Given the description of an element on the screen output the (x, y) to click on. 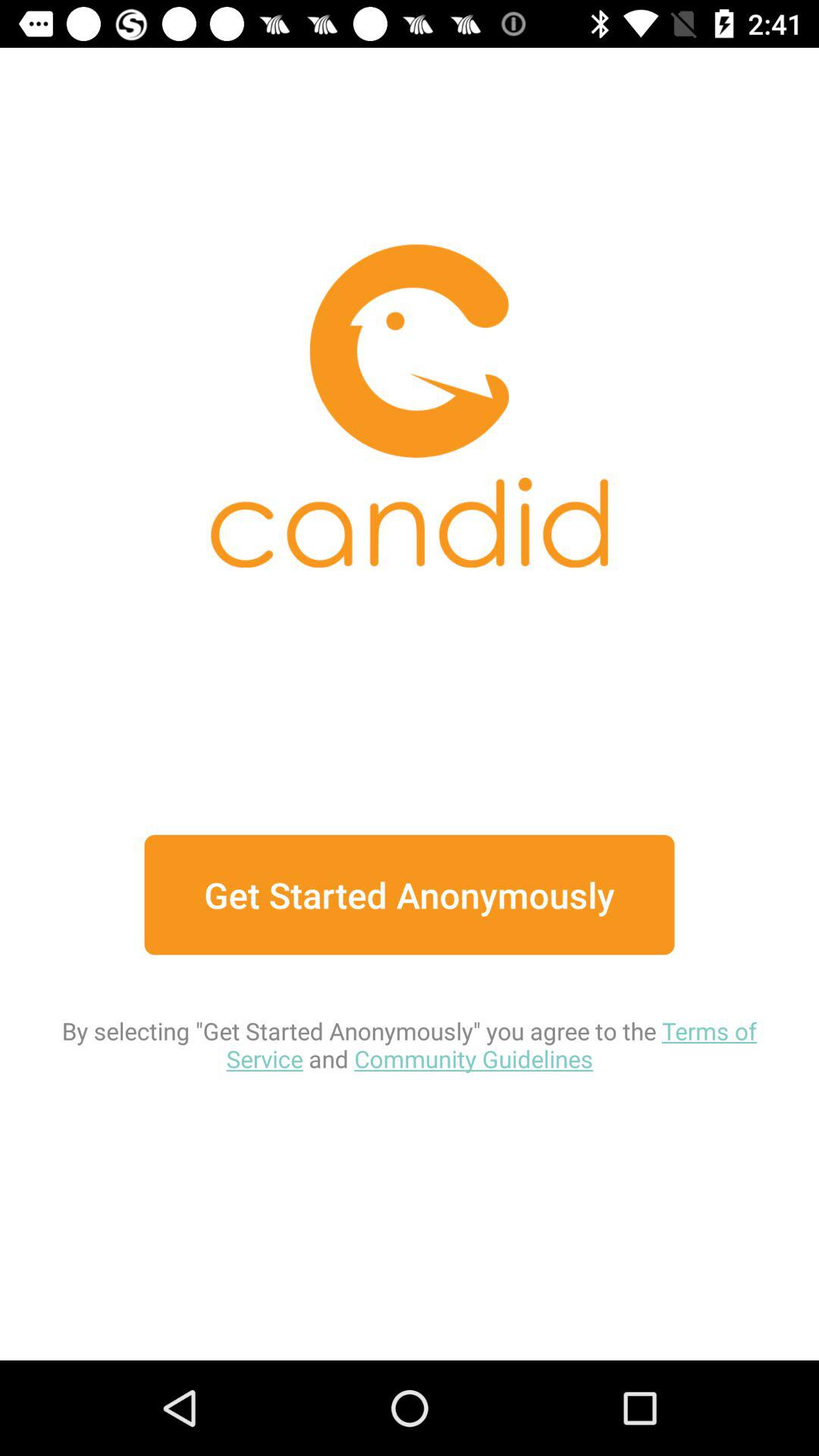
choose the by selecting get item (409, 1014)
